Given the description of an element on the screen output the (x, y) to click on. 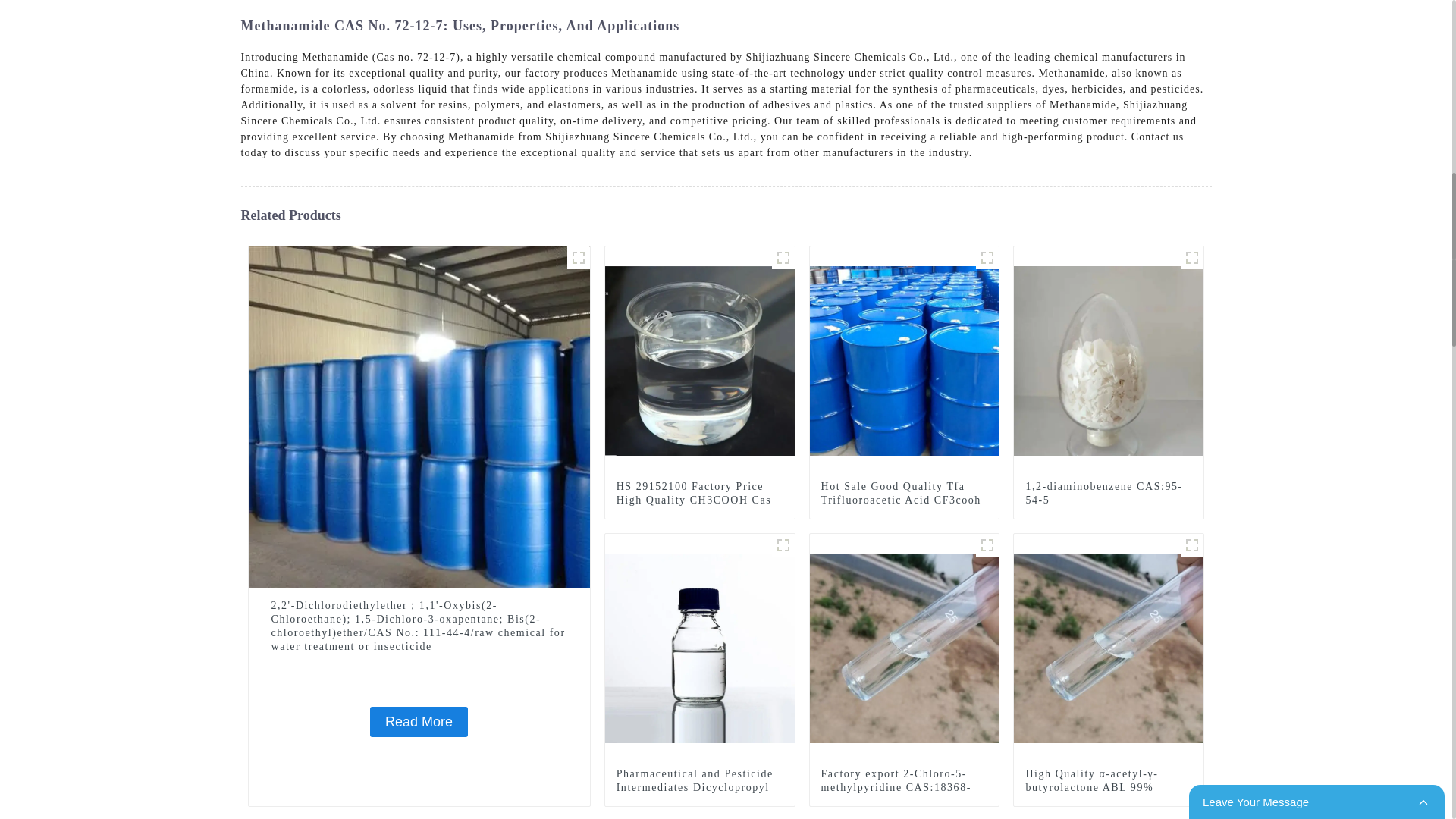
1,2-diaminobenzene CAS:95-54-5 (1108, 492)
Read More (418, 721)
1,2-diaminobenzene CAS:95-54-5 (1108, 492)
1,2-diaminobenzene CAS:95-54-5 (1108, 359)
